Given the description of an element on the screen output the (x, y) to click on. 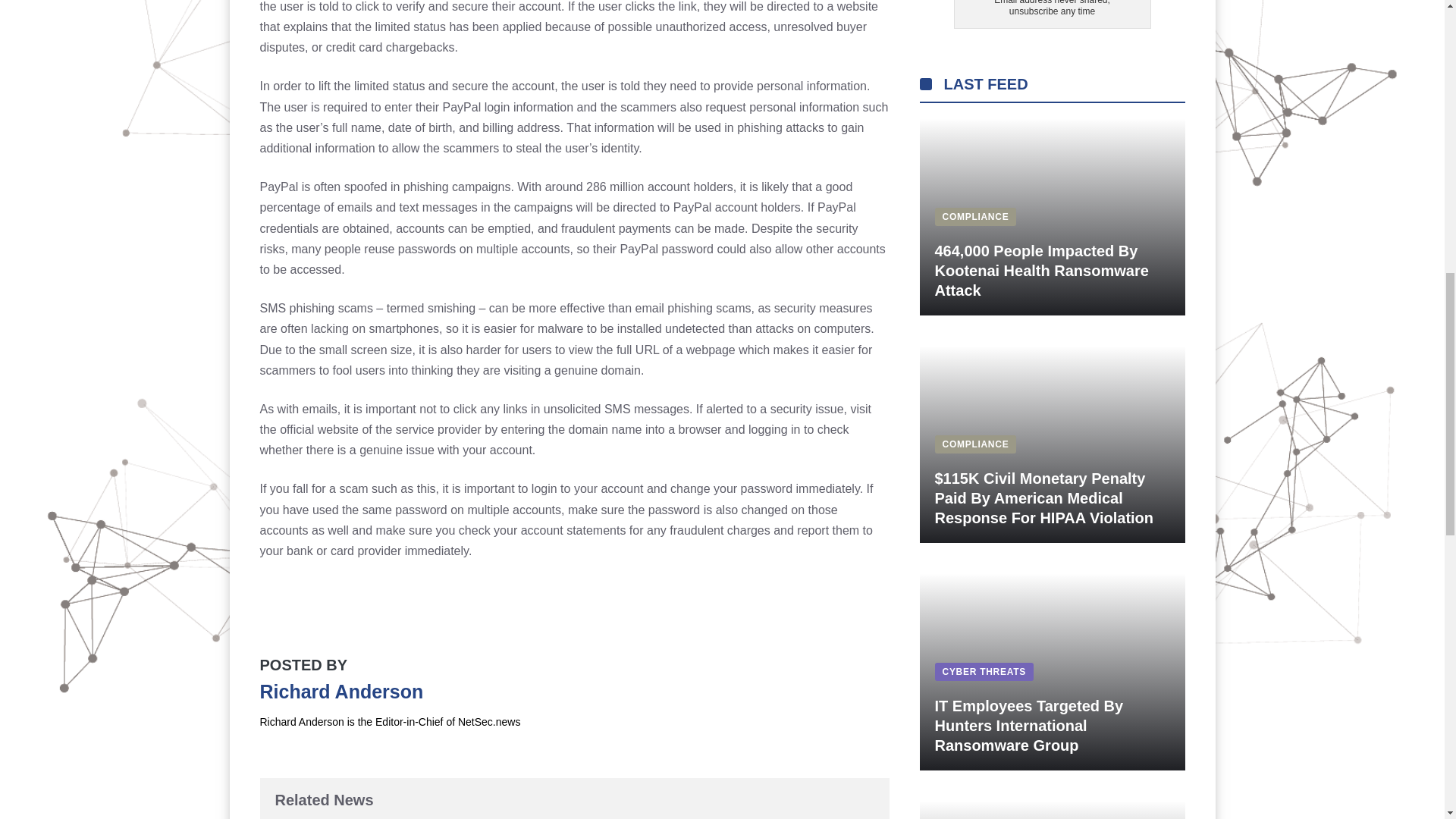
464,000 People Impacted By Kootenai Health Ransomware Attack (1041, 270)
COMPLIANCE (975, 443)
COMPLIANCE (975, 216)
Scroll back to top (1406, 720)
CYBER THREATS (983, 671)
Richard Anderson (341, 690)
